Given the description of an element on the screen output the (x, y) to click on. 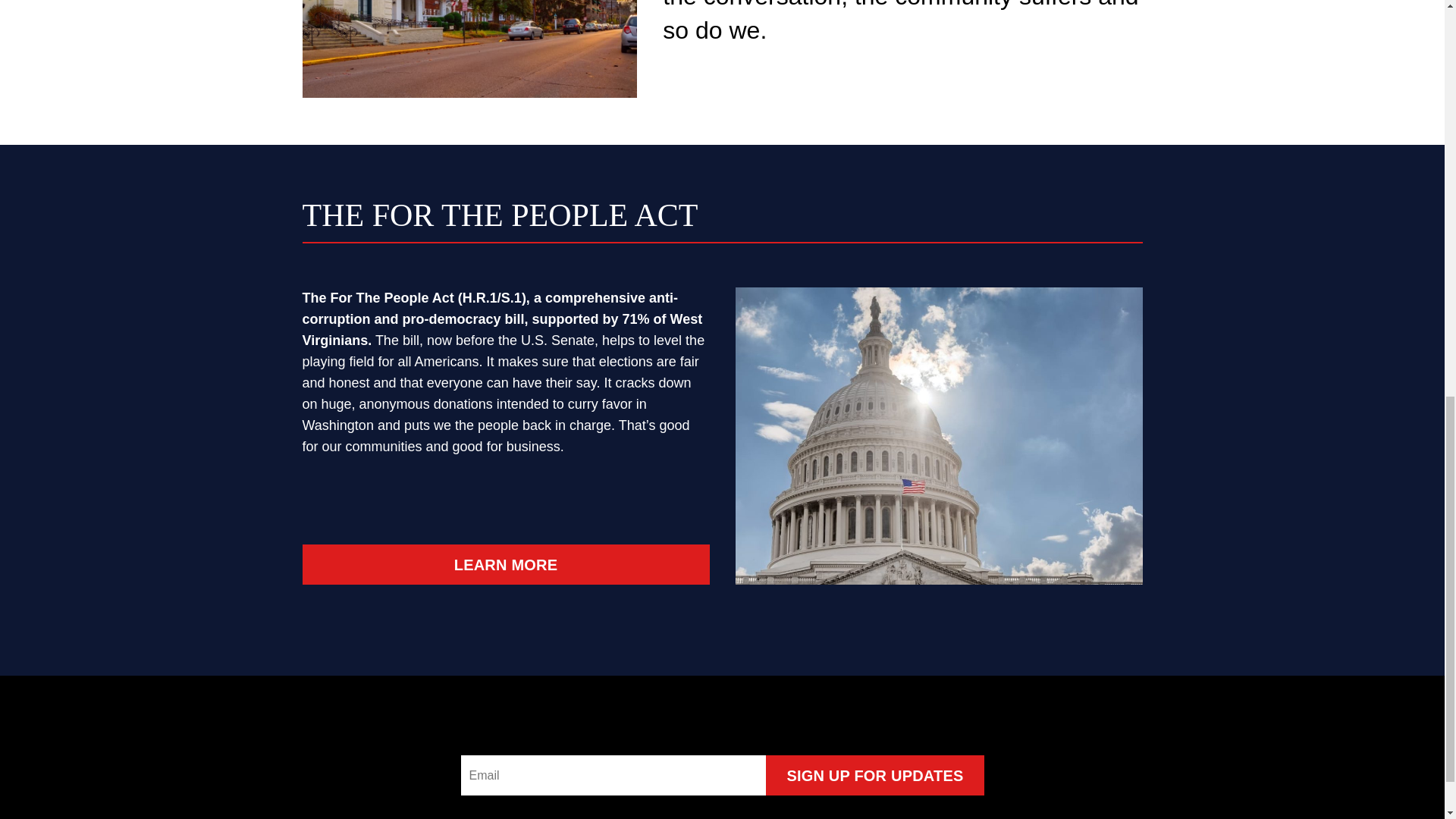
Sign Up For Updates (874, 775)
Sign Up For Updates (874, 775)
LEARN MORE (505, 564)
